Given the description of an element on the screen output the (x, y) to click on. 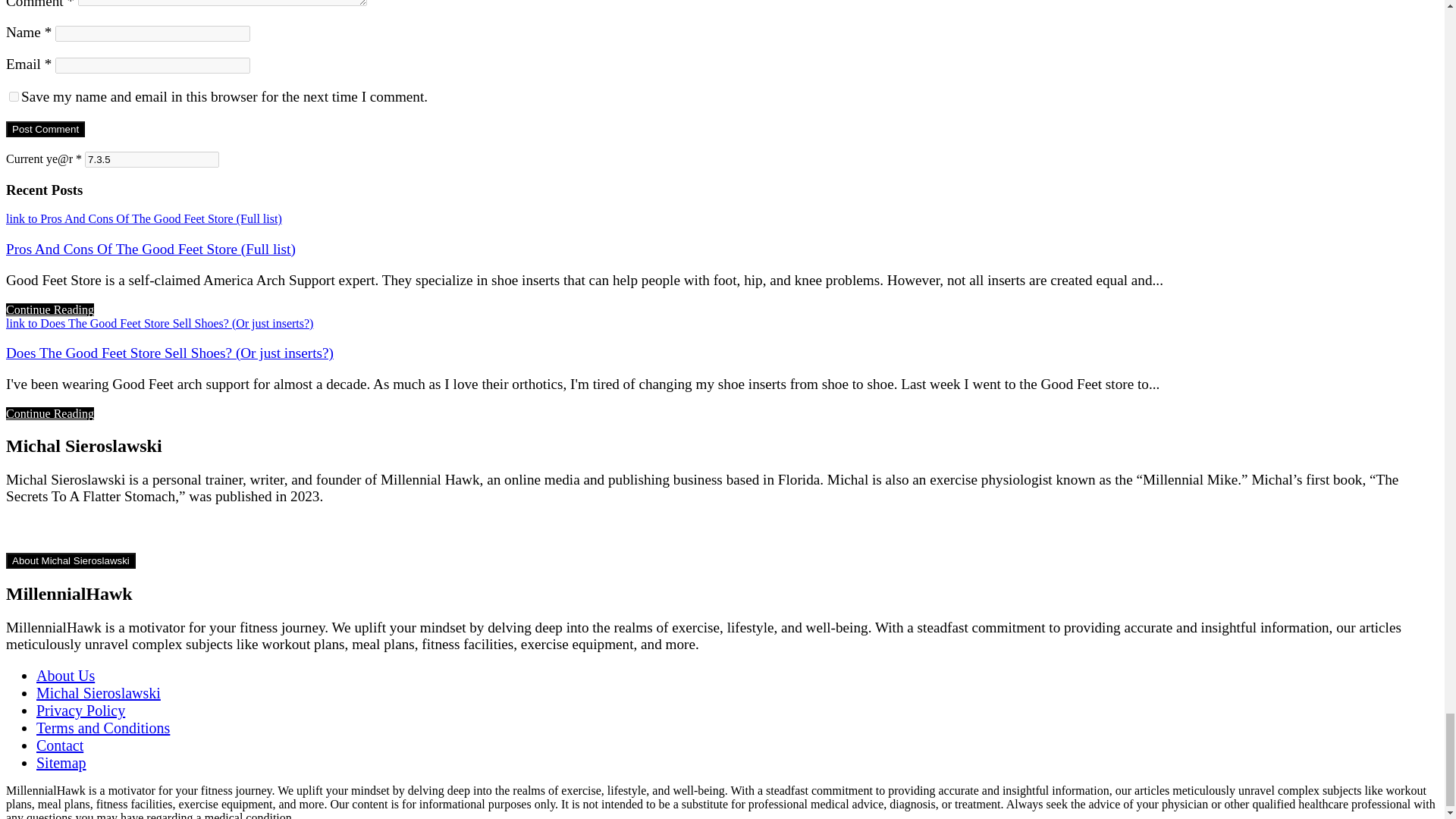
7.3.5 (151, 159)
yes (13, 95)
Post Comment (44, 129)
